Given the description of an element on the screen output the (x, y) to click on. 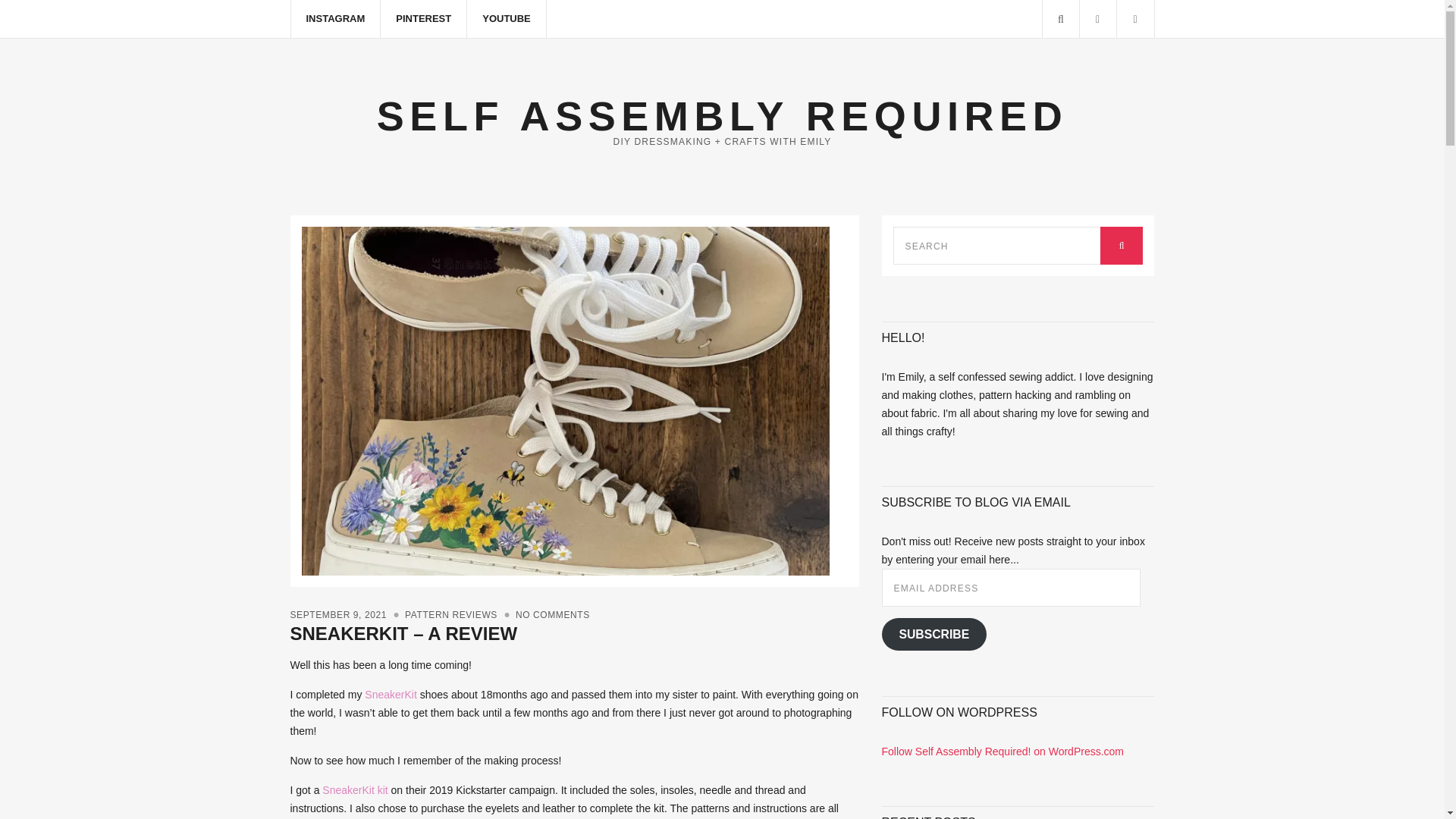
SEARCH (1121, 245)
SneakerKit (390, 694)
SELF ASSEMBLY REQUIRED (722, 115)
SneakerKit kit (354, 789)
PATTERN REVIEWS (450, 614)
NO COMMENTS (552, 614)
YOUTUBE (507, 18)
PINTEREST (423, 18)
INSTAGRAM (336, 18)
